Given the description of an element on the screen output the (x, y) to click on. 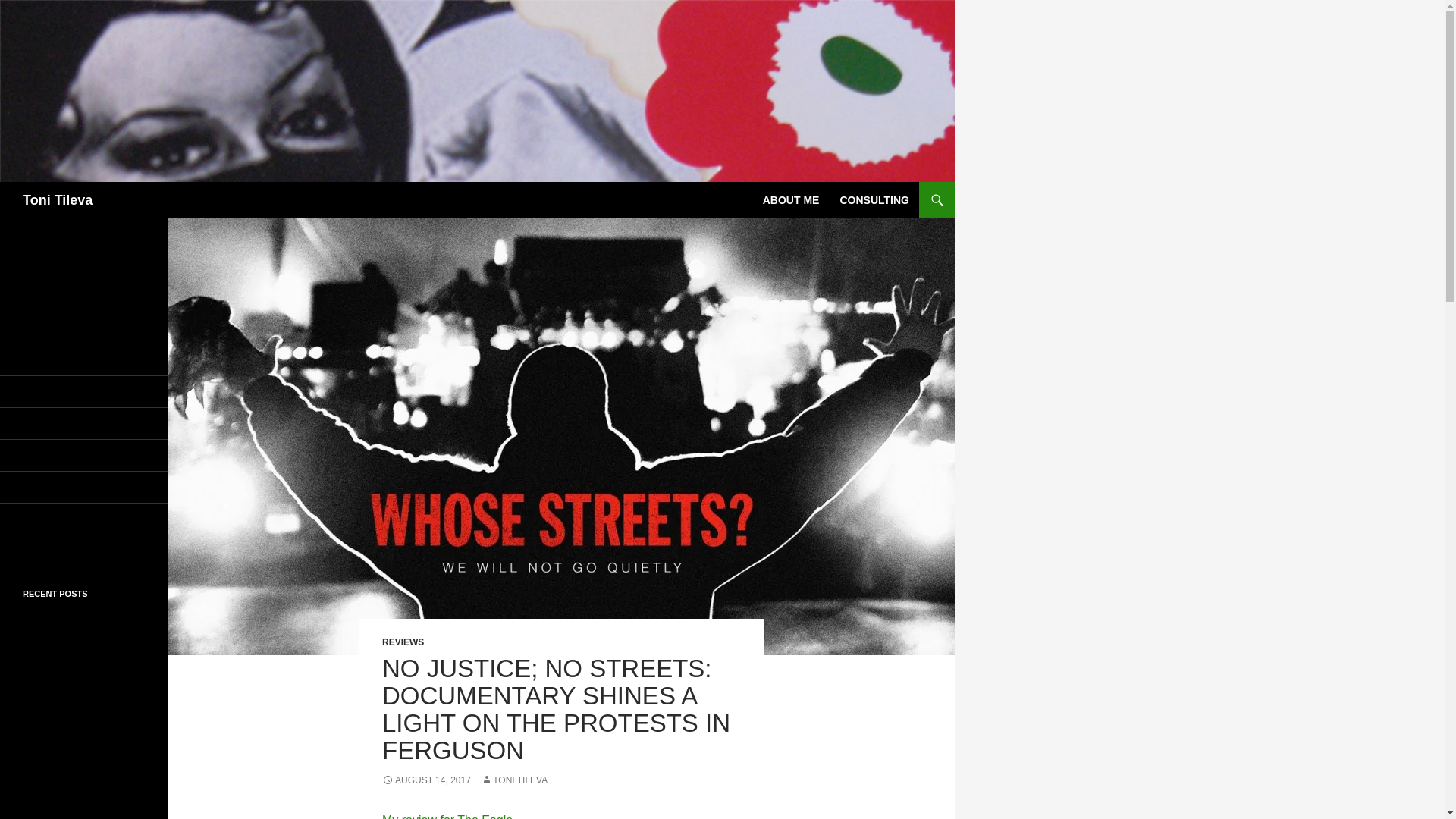
AUGUST 14, 2017 (425, 779)
REPORTING (84, 454)
TONI TILEVA (513, 779)
ECONOMICS-THEMED (84, 391)
BOOK REVIEWS (84, 359)
BEST OF (84, 327)
Toni Tileva (58, 199)
REVIEWS (402, 642)
